Given the description of an element on the screen output the (x, y) to click on. 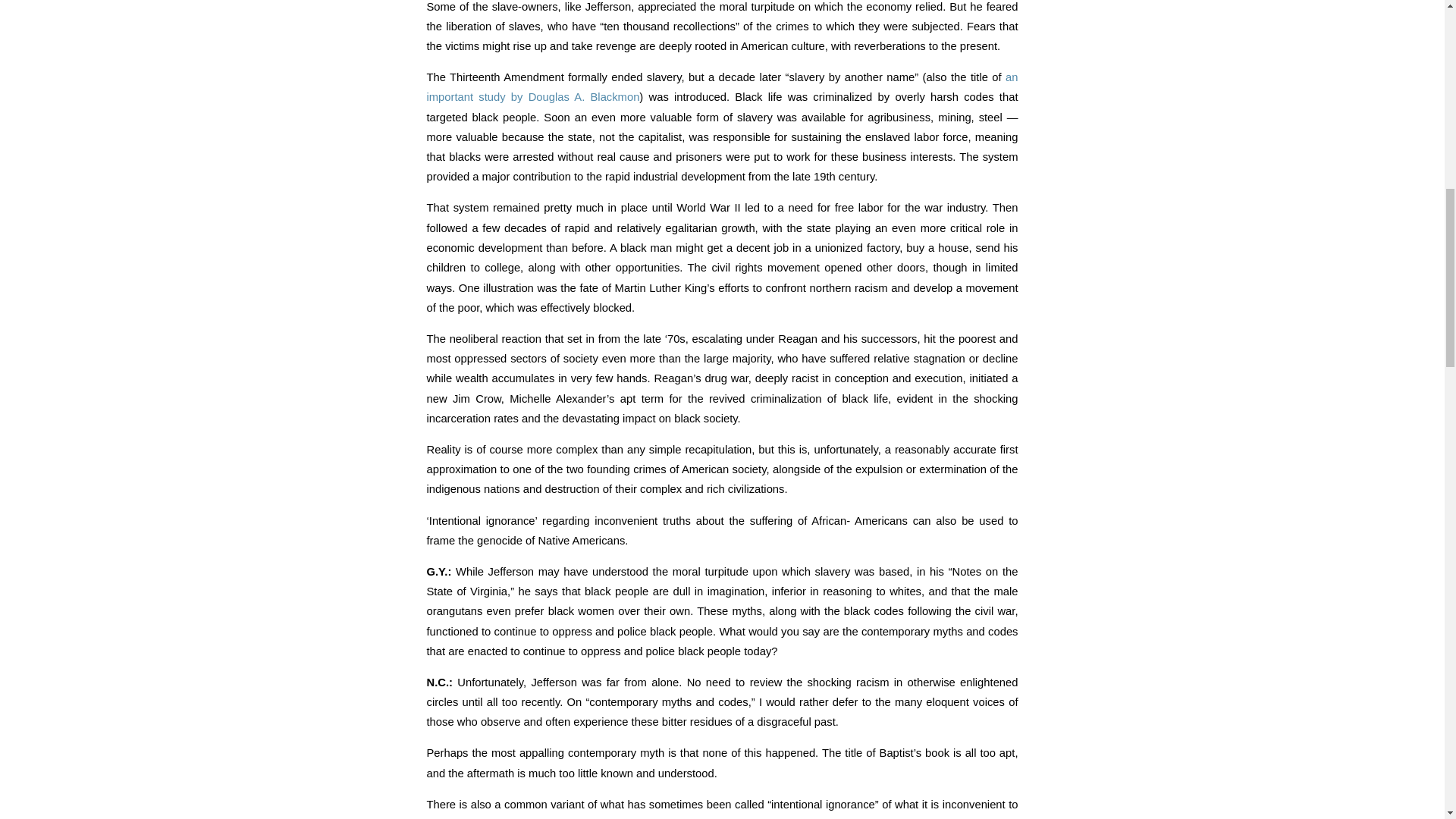
an important study by Douglas A. Blackmon (721, 87)
